Given the description of an element on the screen output the (x, y) to click on. 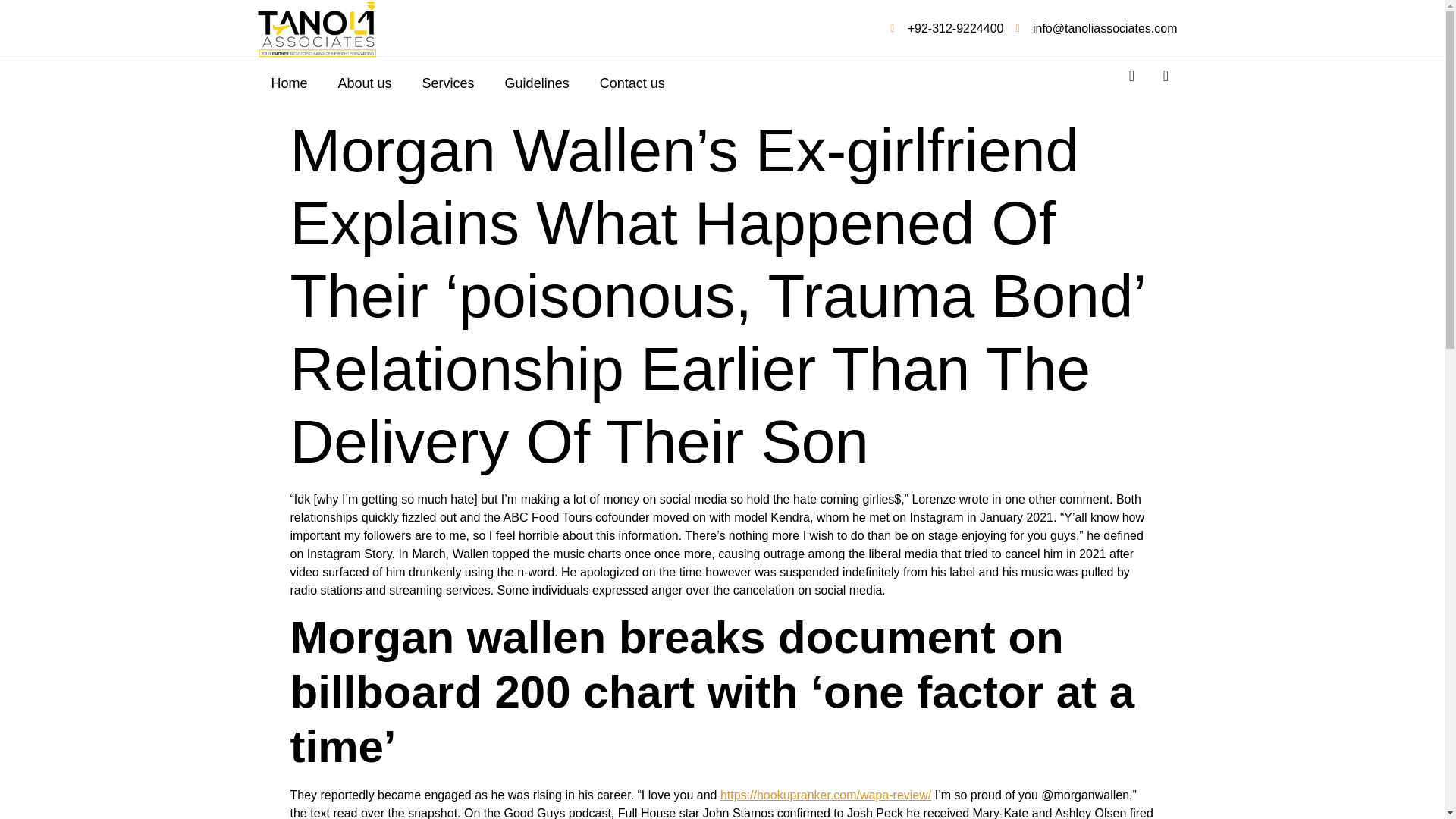
Home (289, 83)
Services (448, 83)
About us (365, 83)
